Given the description of an element on the screen output the (x, y) to click on. 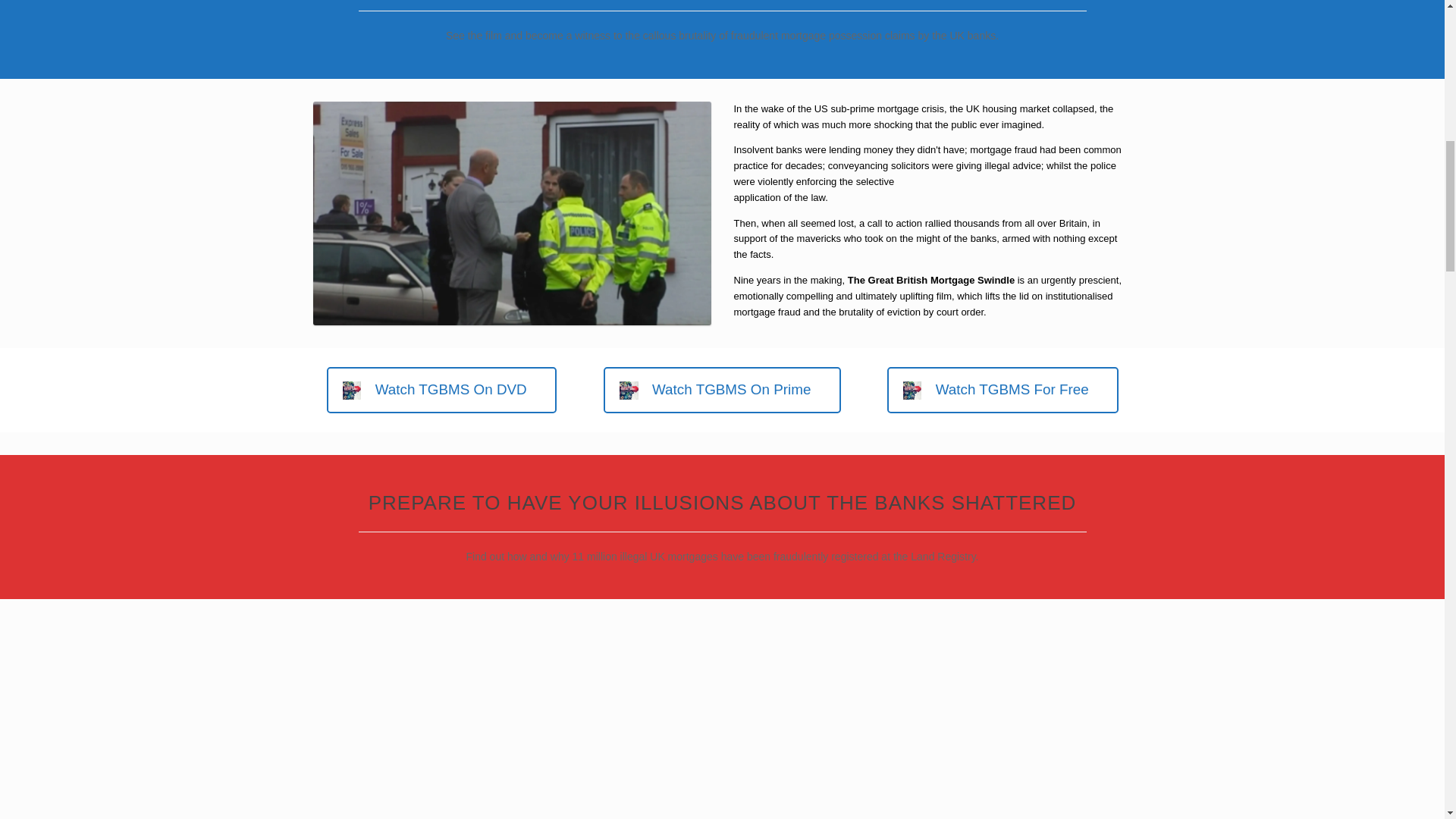
Watch TGBMS On DVD (441, 389)
